Given the description of an element on the screen output the (x, y) to click on. 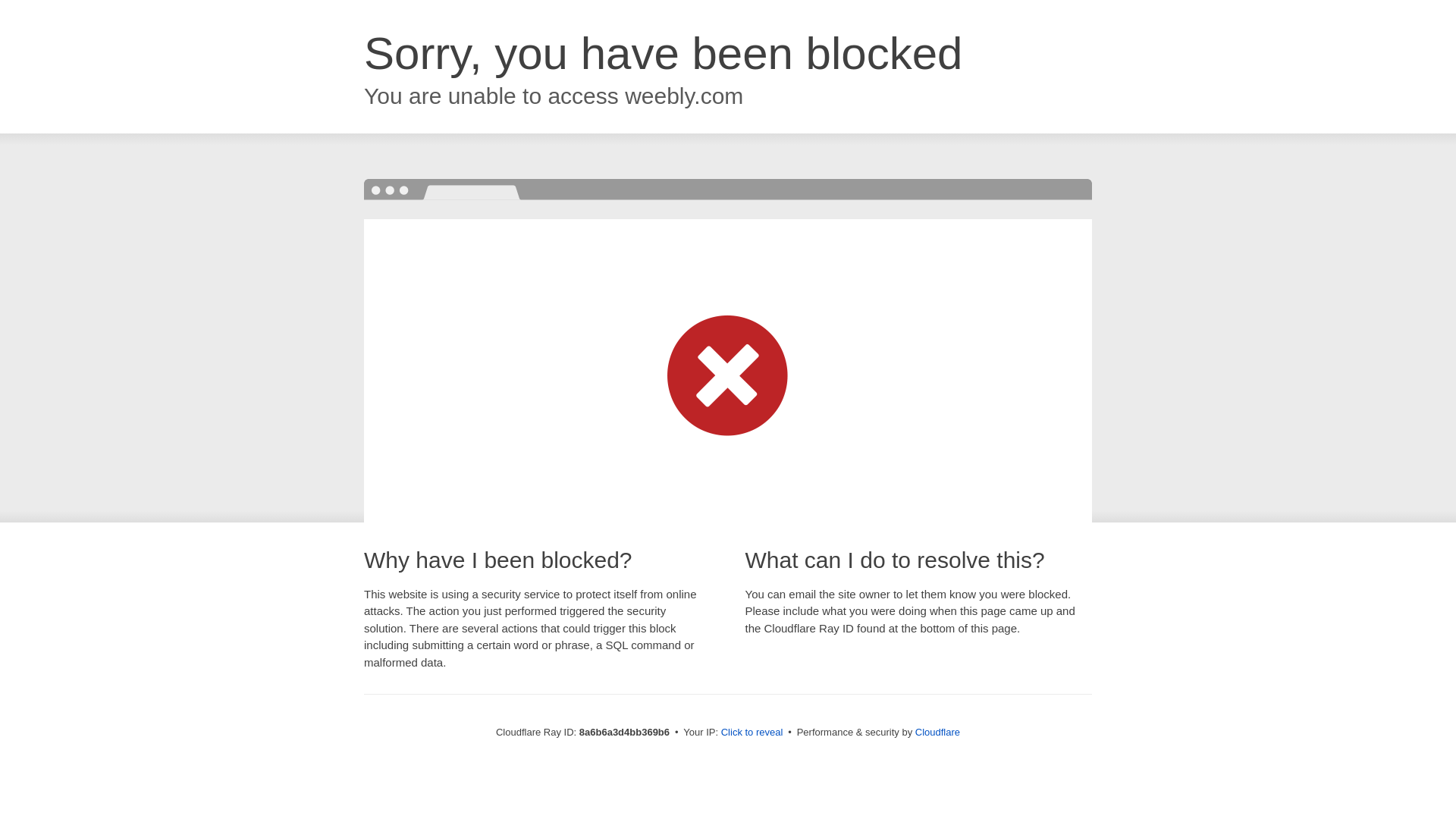
Cloudflare (937, 731)
Click to reveal (751, 732)
